Given the description of an element on the screen output the (x, y) to click on. 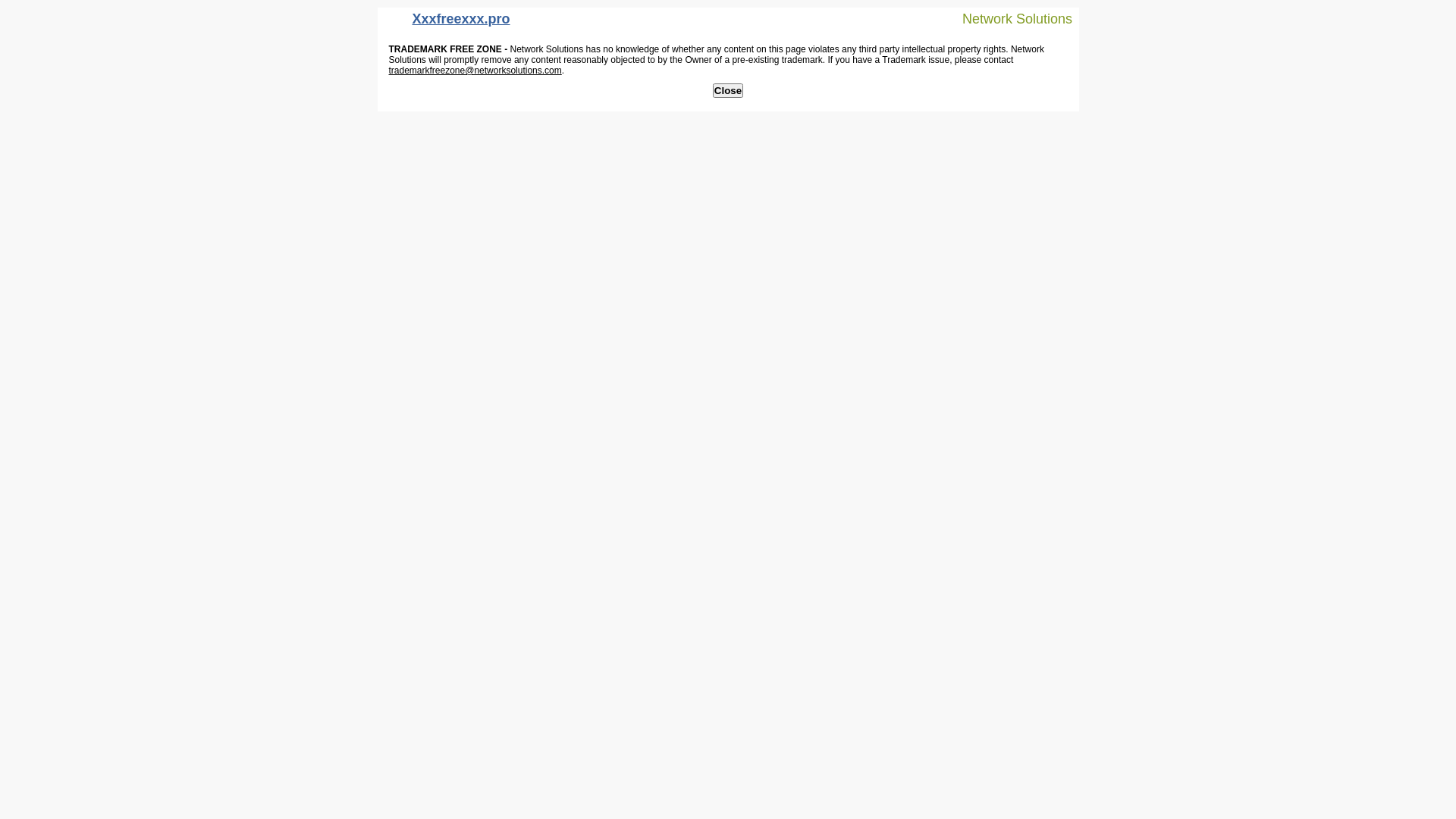
Close Element type: text (727, 90)
Network Solutions Element type: text (1007, 17)
trademarkfreezone@networksolutions.com Element type: text (474, 70)
Xxxfreexxx.pro Element type: text (447, 21)
